Given the description of an element on the screen output the (x, y) to click on. 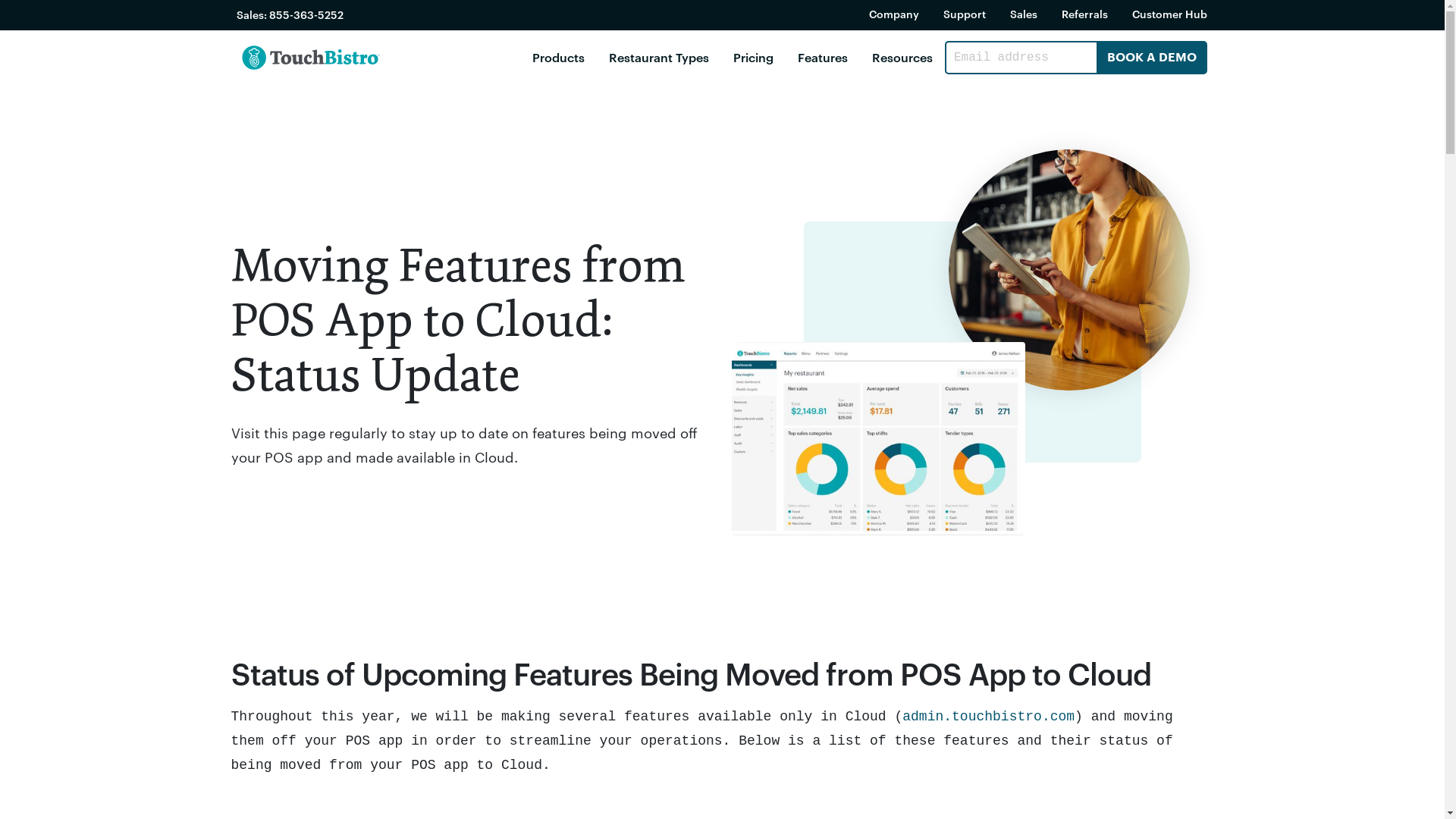
Sales Element type: text (1023, 13)
Support Element type: text (964, 13)
Referrals Element type: text (1084, 13)
Company Element type: text (894, 13)
admin.touchbistro.com Element type: text (988, 716)
Customer Hub Element type: text (1169, 13)
TouchBistro Logo Element type: hover (310, 57)
Restaurant Types Element type: text (658, 57)
Resources Element type: text (902, 57)
BOOK A DEMO Element type: text (1151, 57)
855-363-5252 Element type: text (306, 15)
Products Element type: text (558, 57)
Pricing Element type: text (753, 57)
Features Element type: text (822, 57)
